Given the description of an element on the screen output the (x, y) to click on. 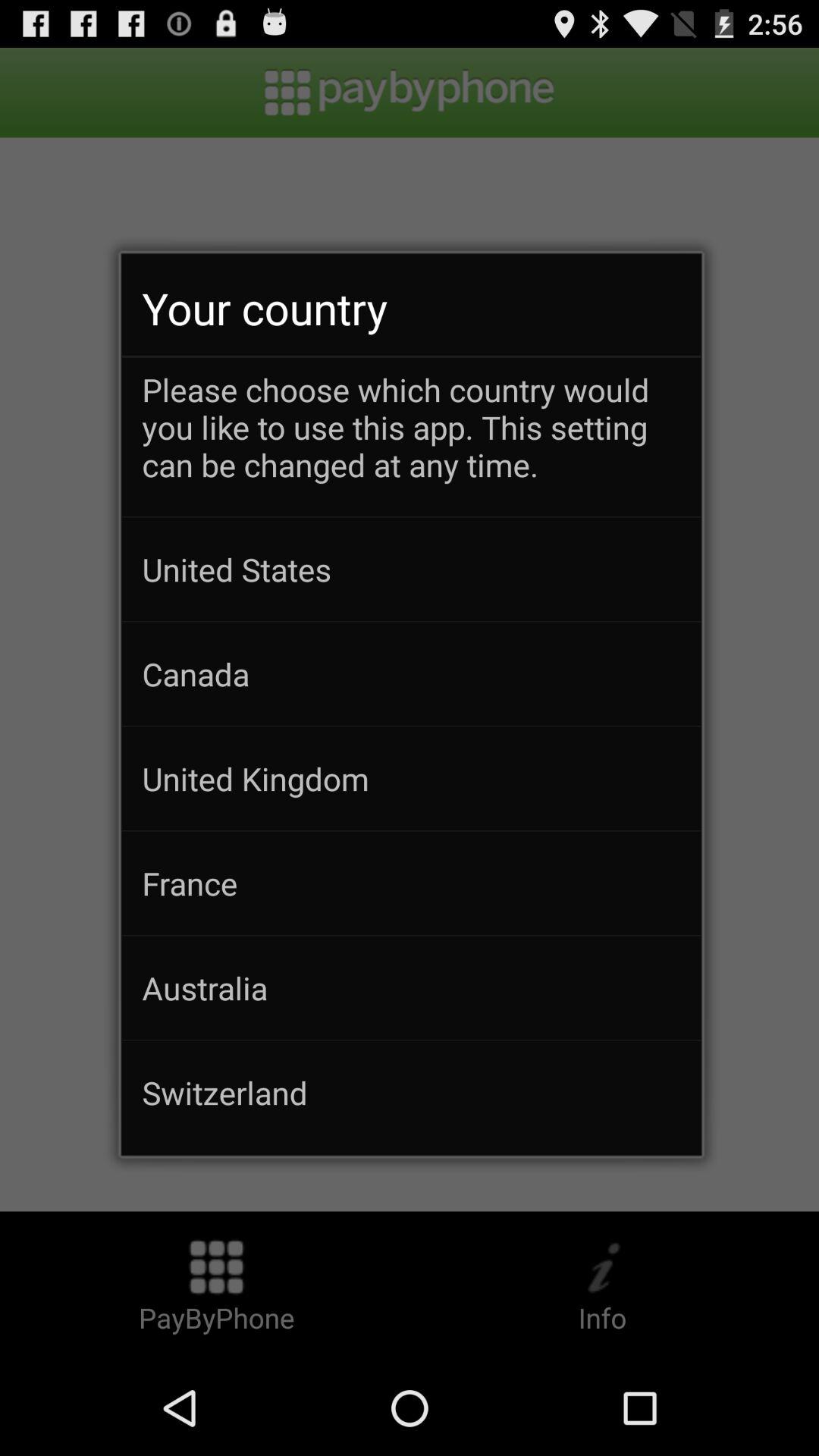
scroll until the please choose which app (411, 441)
